Given the description of an element on the screen output the (x, y) to click on. 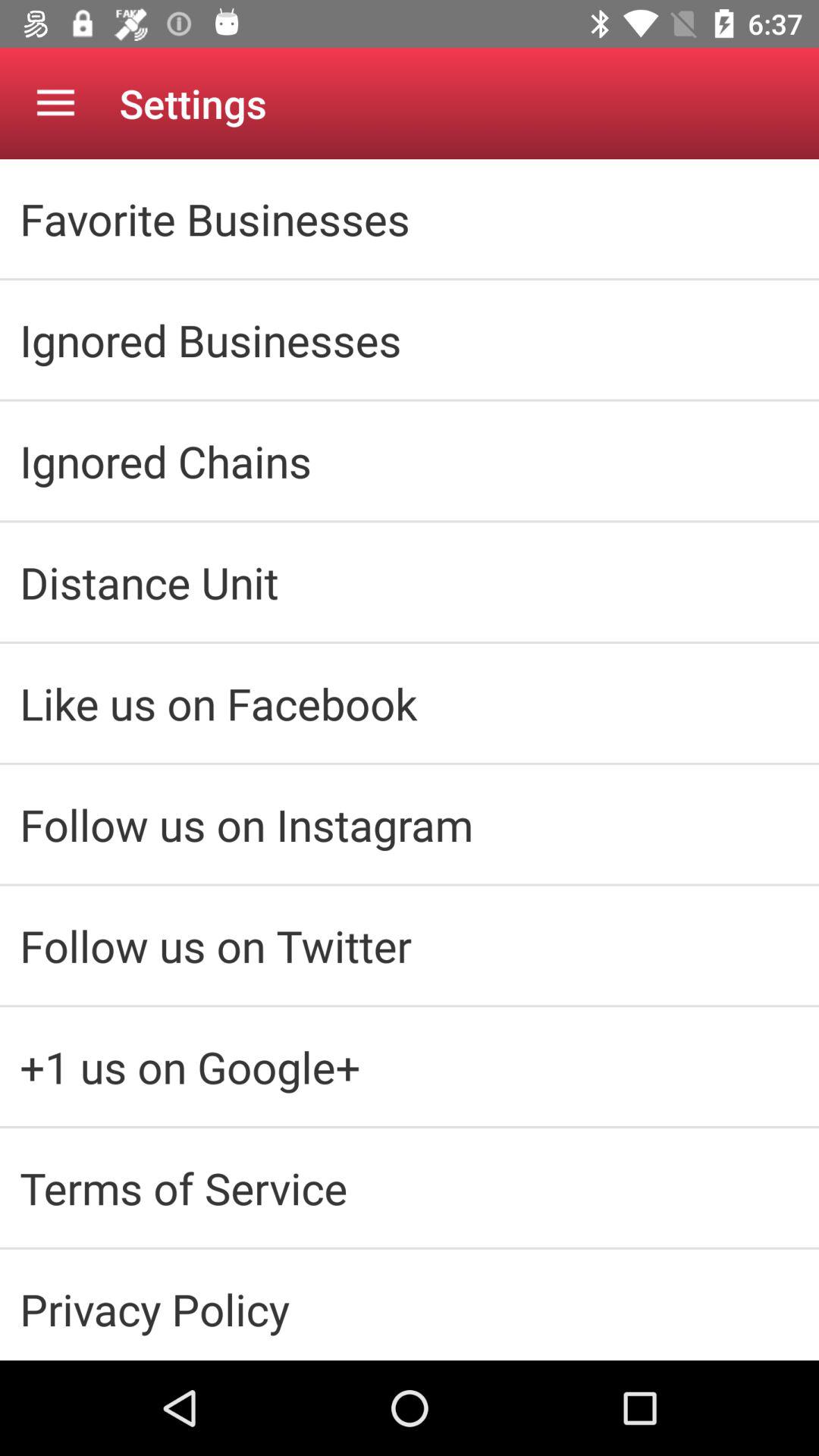
choose privacy policy icon (409, 1308)
